Given the description of an element on the screen output the (x, y) to click on. 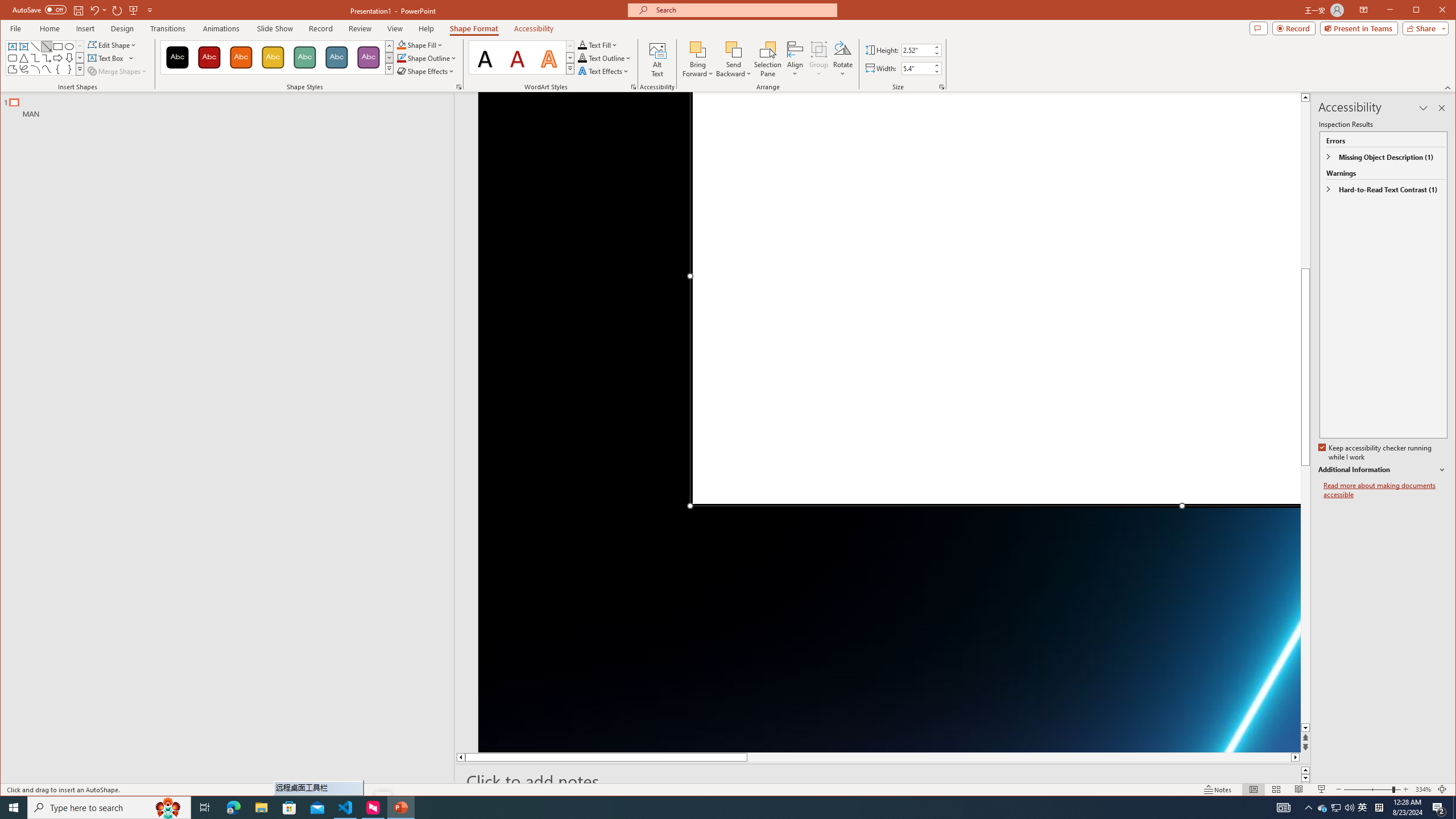
AutomationID: TextStylesGallery (521, 57)
Colored Fill - Gold, Accent 3 (272, 57)
